Given the description of an element on the screen output the (x, y) to click on. 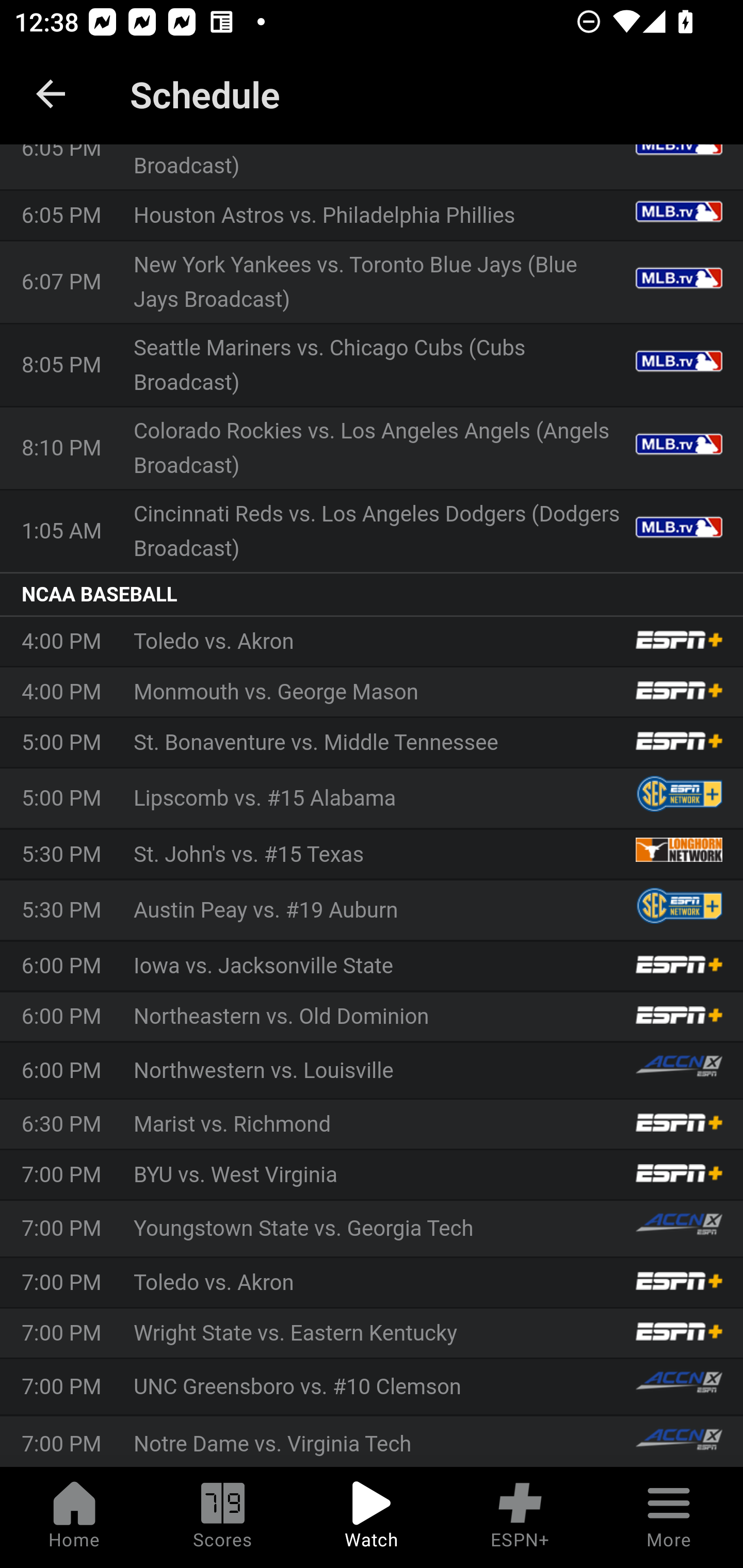
back.button (50, 93)
Home (74, 1517)
Scores (222, 1517)
ESPN+ (519, 1517)
More (668, 1517)
